Given the description of an element on the screen output the (x, y) to click on. 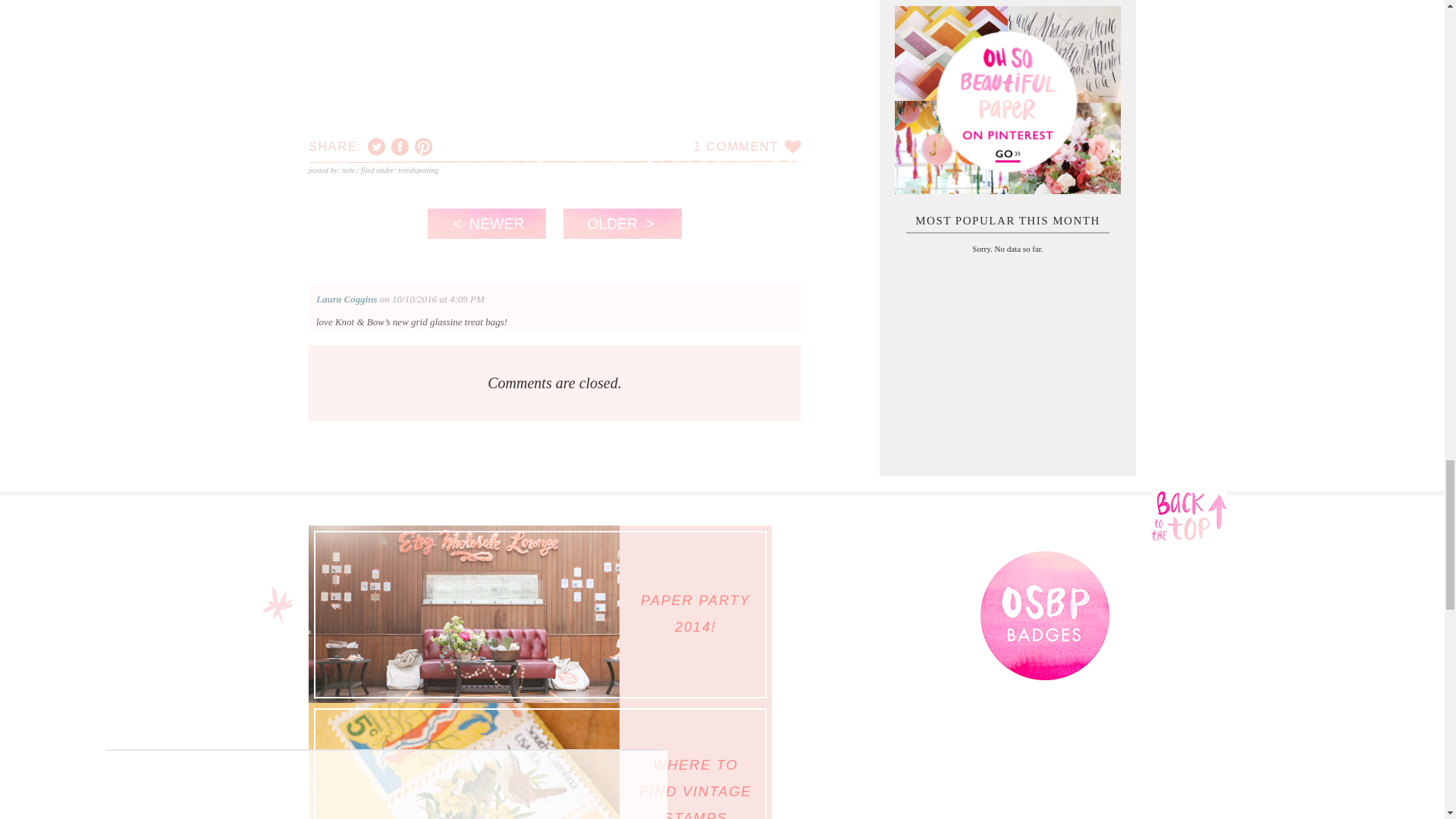
Share this post on Facebook (400, 146)
Pin this post (423, 146)
Tweet this post (376, 146)
View all posts in trendspotting (417, 170)
